Given the description of an element on the screen output the (x, y) to click on. 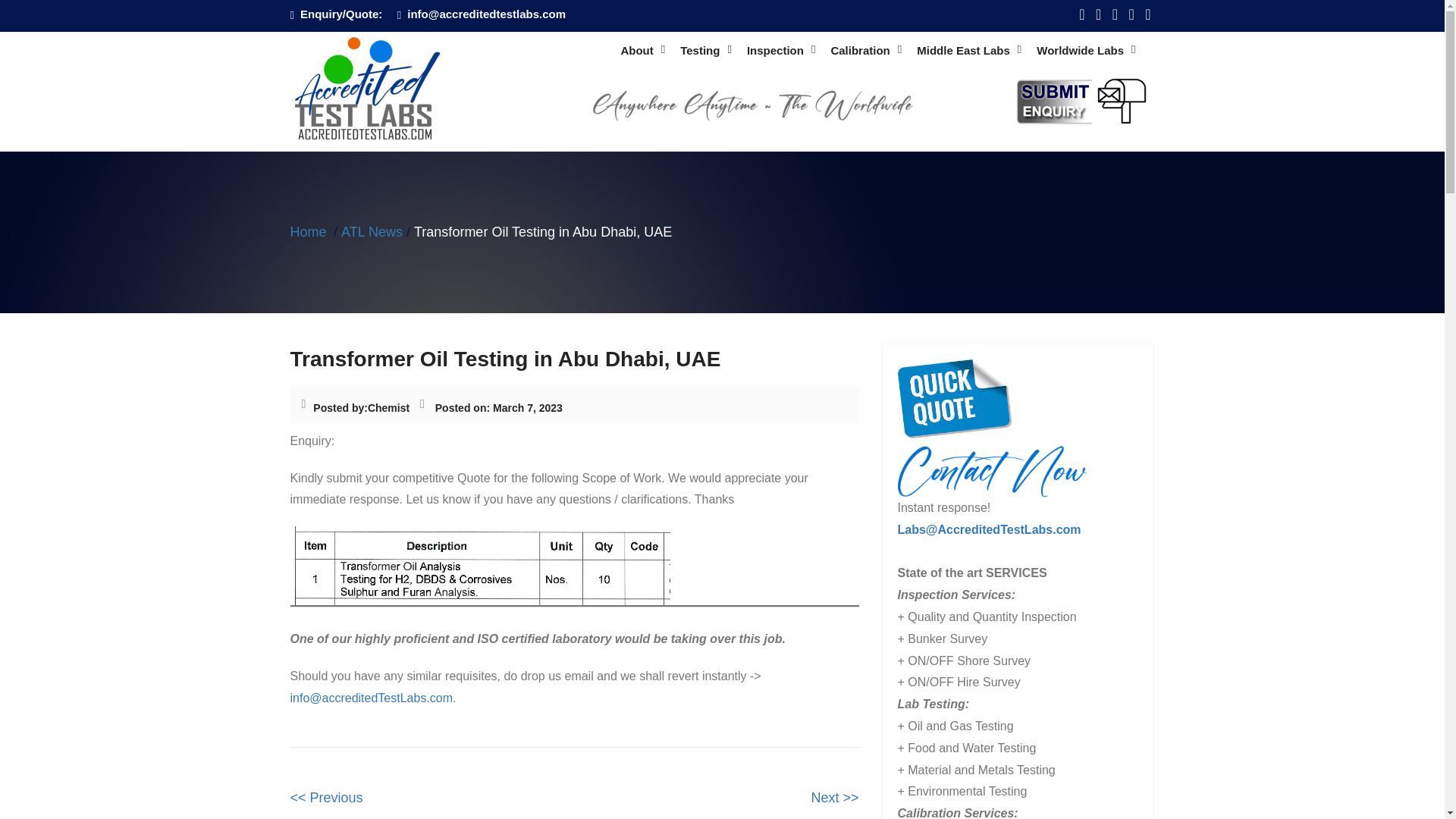
Inspection (781, 51)
About (642, 51)
Testing (705, 51)
Testing (705, 51)
About (642, 51)
